Given the description of an element on the screen output the (x, y) to click on. 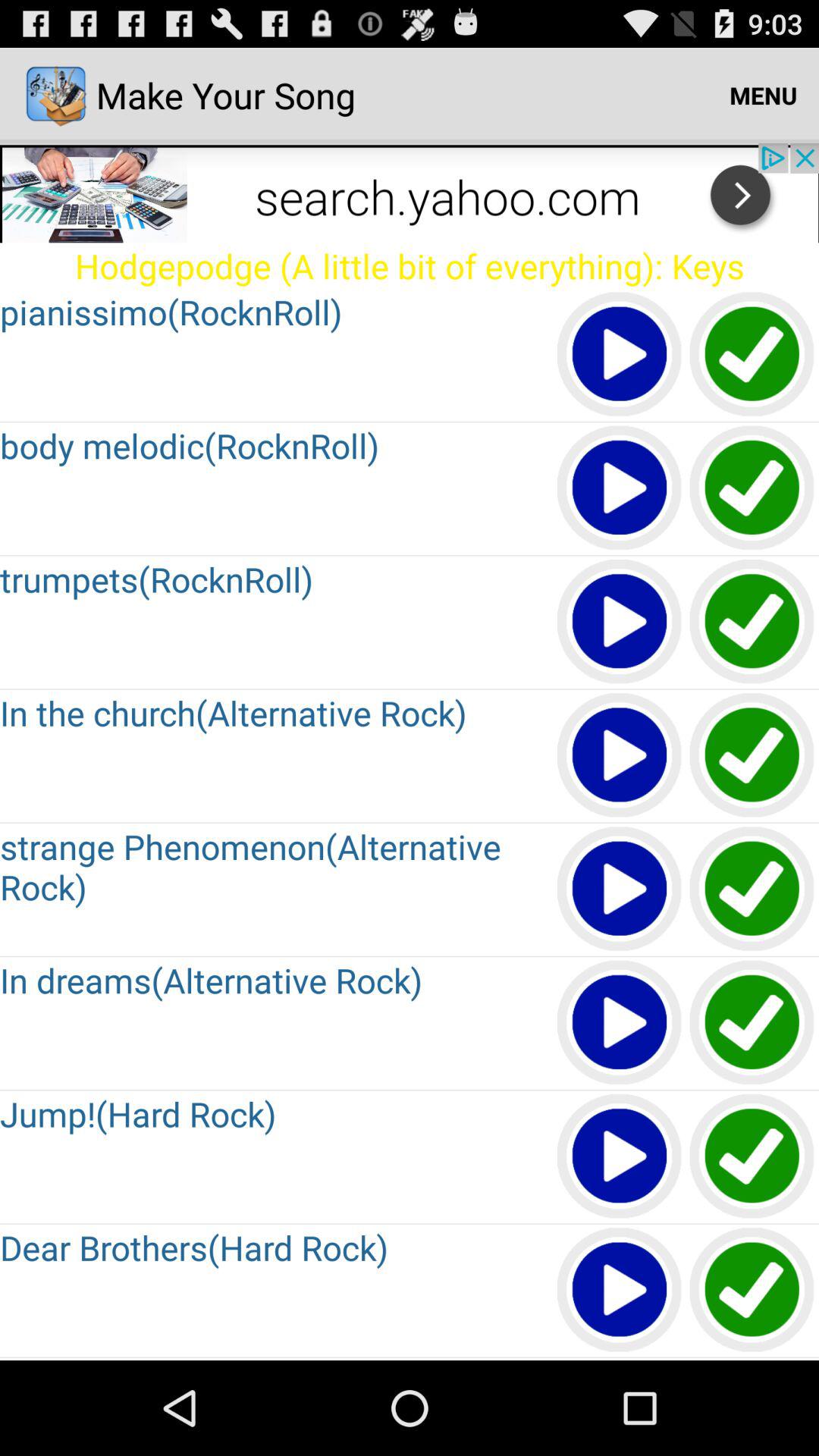
play button (619, 622)
